Given the description of an element on the screen output the (x, y) to click on. 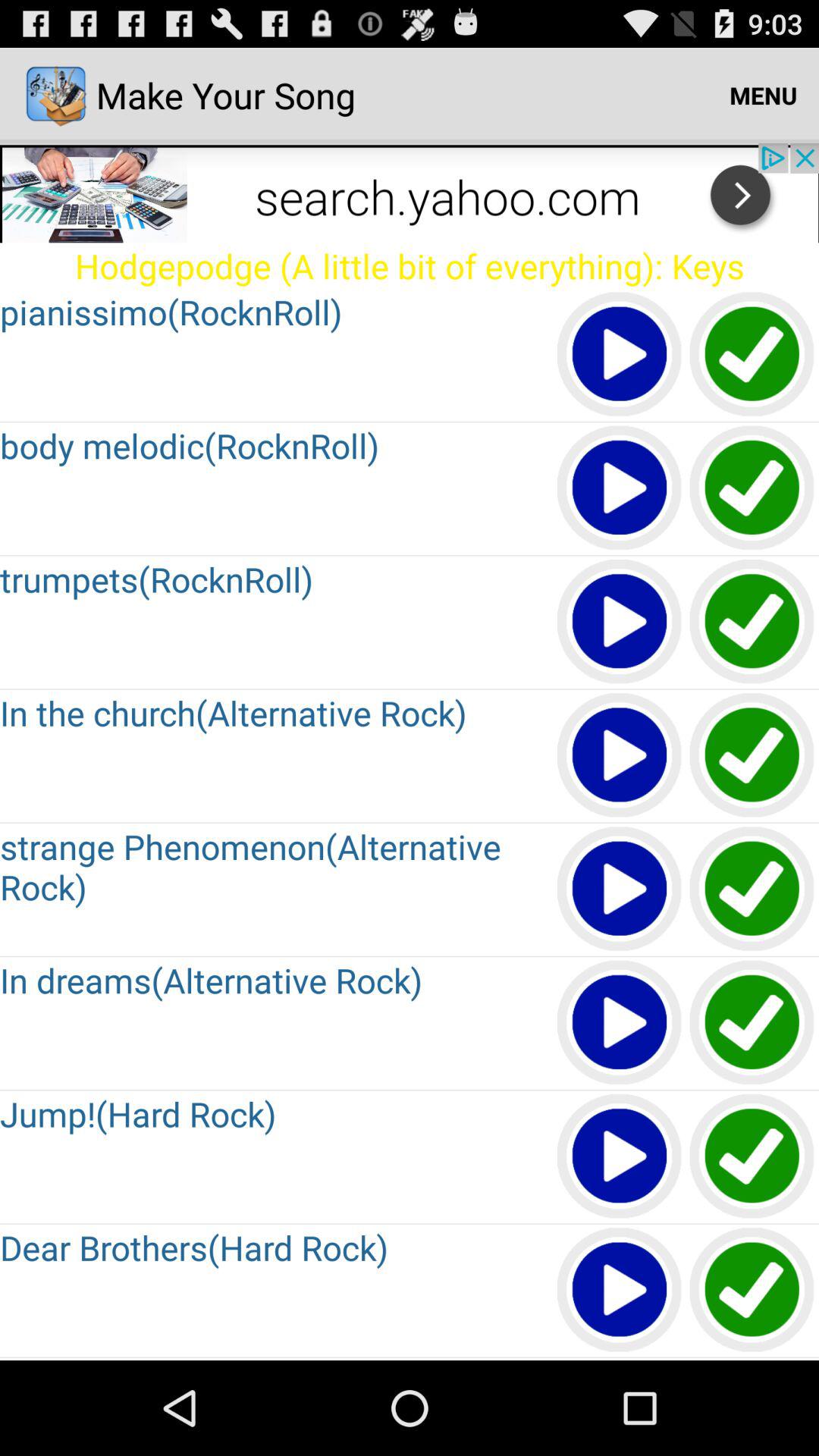
play button (619, 622)
